Given the description of an element on the screen output the (x, y) to click on. 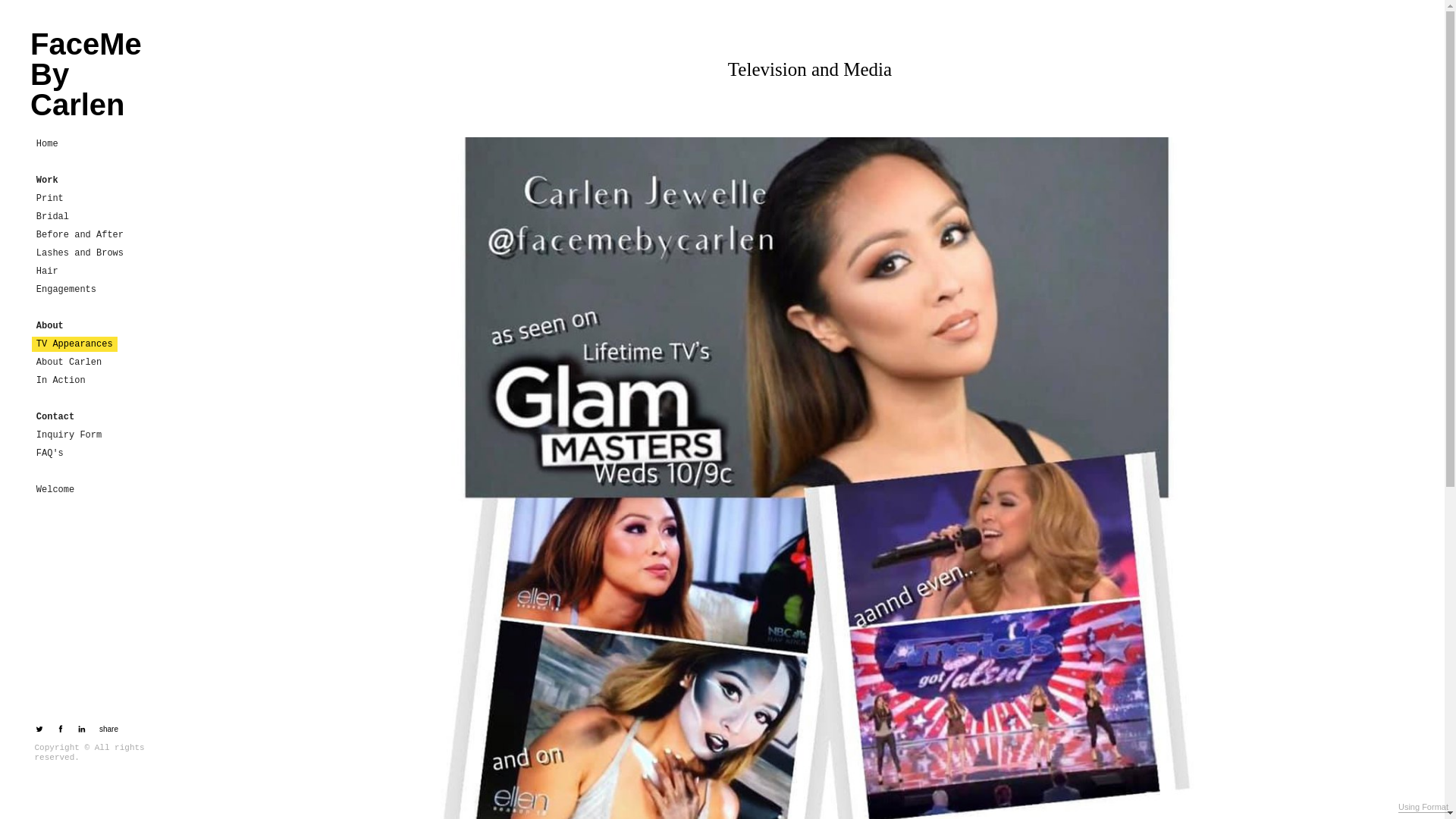
Lashes and Brows (80, 253)
Contact (54, 417)
TV Appearances (74, 344)
FaceMe By Carlen (95, 73)
In Action (61, 380)
About (48, 325)
share (106, 729)
Print (50, 198)
FAQ's (50, 453)
About Carlen (69, 362)
